Given the description of an element on the screen output the (x, y) to click on. 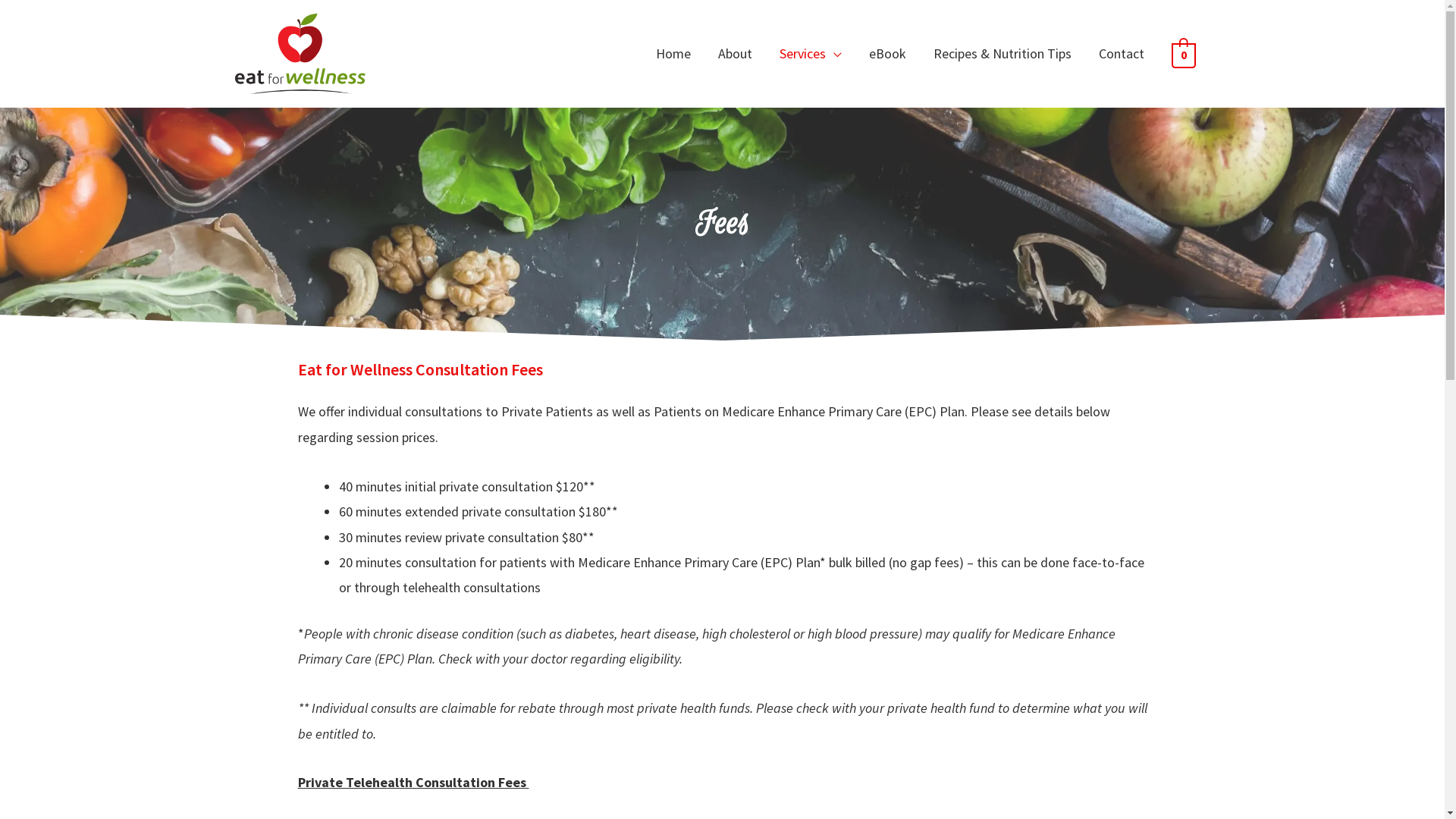
About Element type: text (734, 53)
Home Element type: text (672, 53)
0 Element type: text (1182, 53)
Services Element type: text (810, 53)
Contact Element type: text (1120, 53)
Recipes & Nutrition Tips Element type: text (1001, 53)
eBook Element type: text (887, 53)
